Given the description of an element on the screen output the (x, y) to click on. 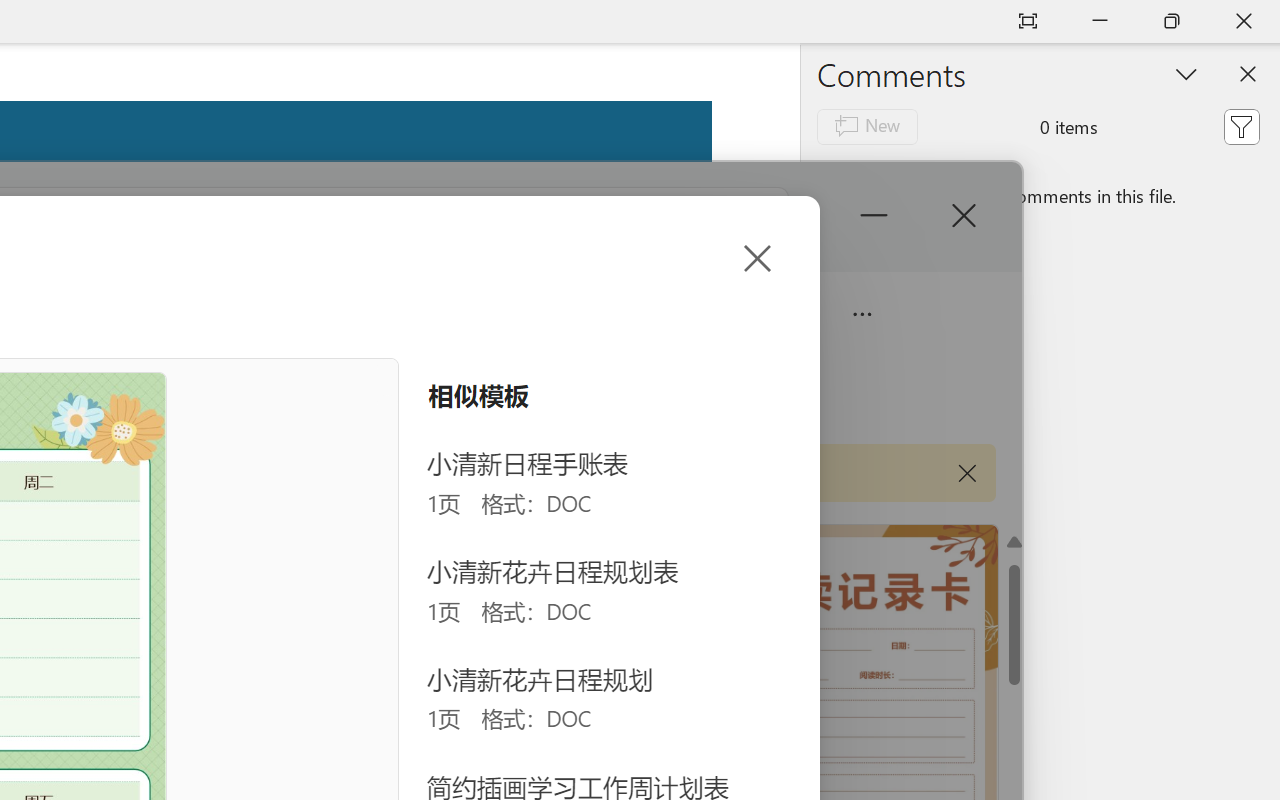
New comment (866, 126)
Filter (1241, 126)
Auto-hide Reading Toolbar (1027, 21)
